Given the description of an element on the screen output the (x, y) to click on. 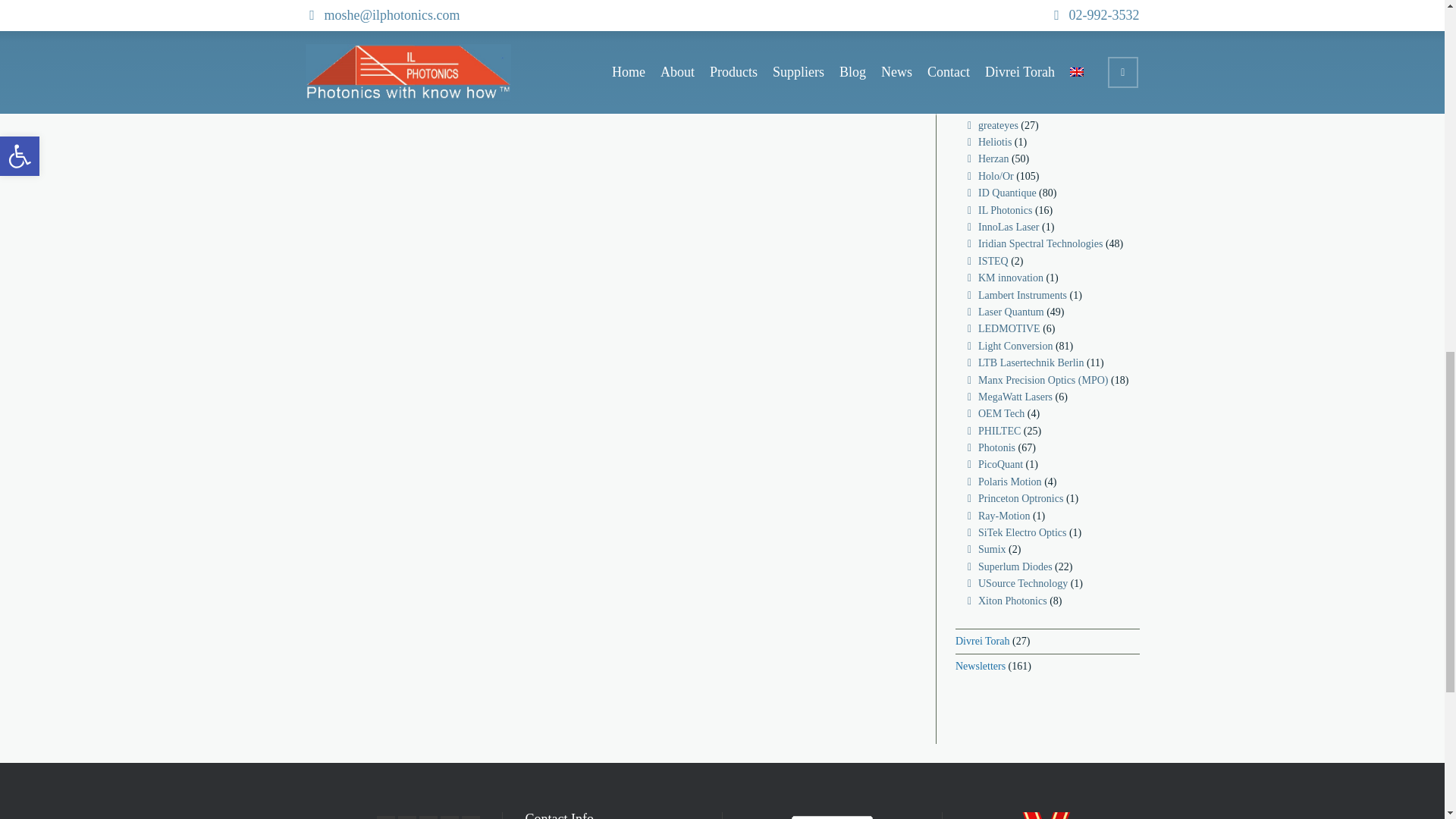
Linkedin (427, 817)
X (405, 817)
Email (384, 817)
WhatsApp (470, 817)
YouTube (448, 817)
